Given the description of an element on the screen output the (x, y) to click on. 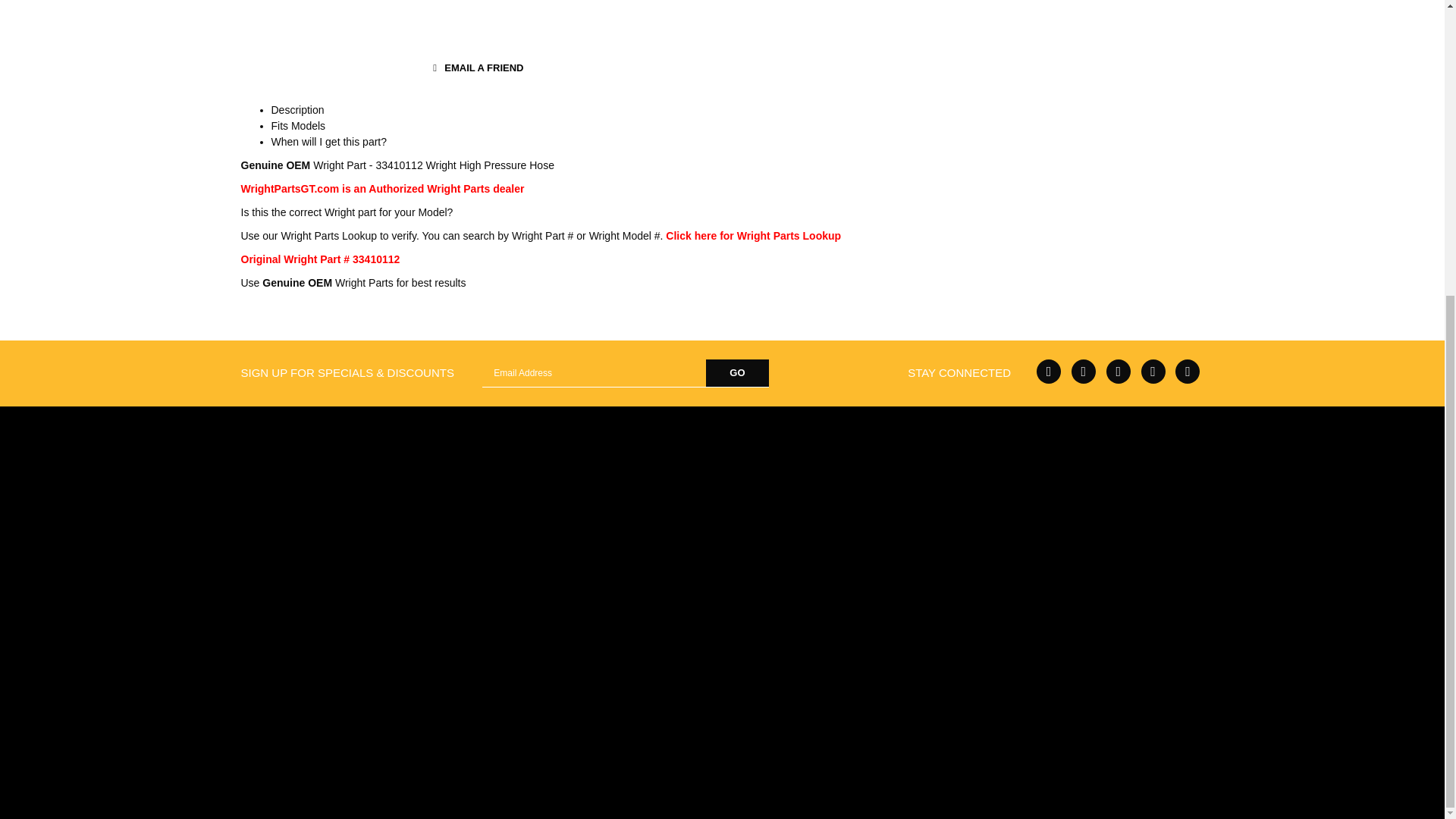
Follow Us on Instagram (1186, 371)
Subscribe to our Channel (1118, 371)
Like Us on Facebook (1048, 371)
Follow Us on Pinterest (1153, 371)
 Wright Parts Diagrams (753, 235)
Follow Us on Twitter (1083, 371)
